Given the description of an element on the screen output the (x, y) to click on. 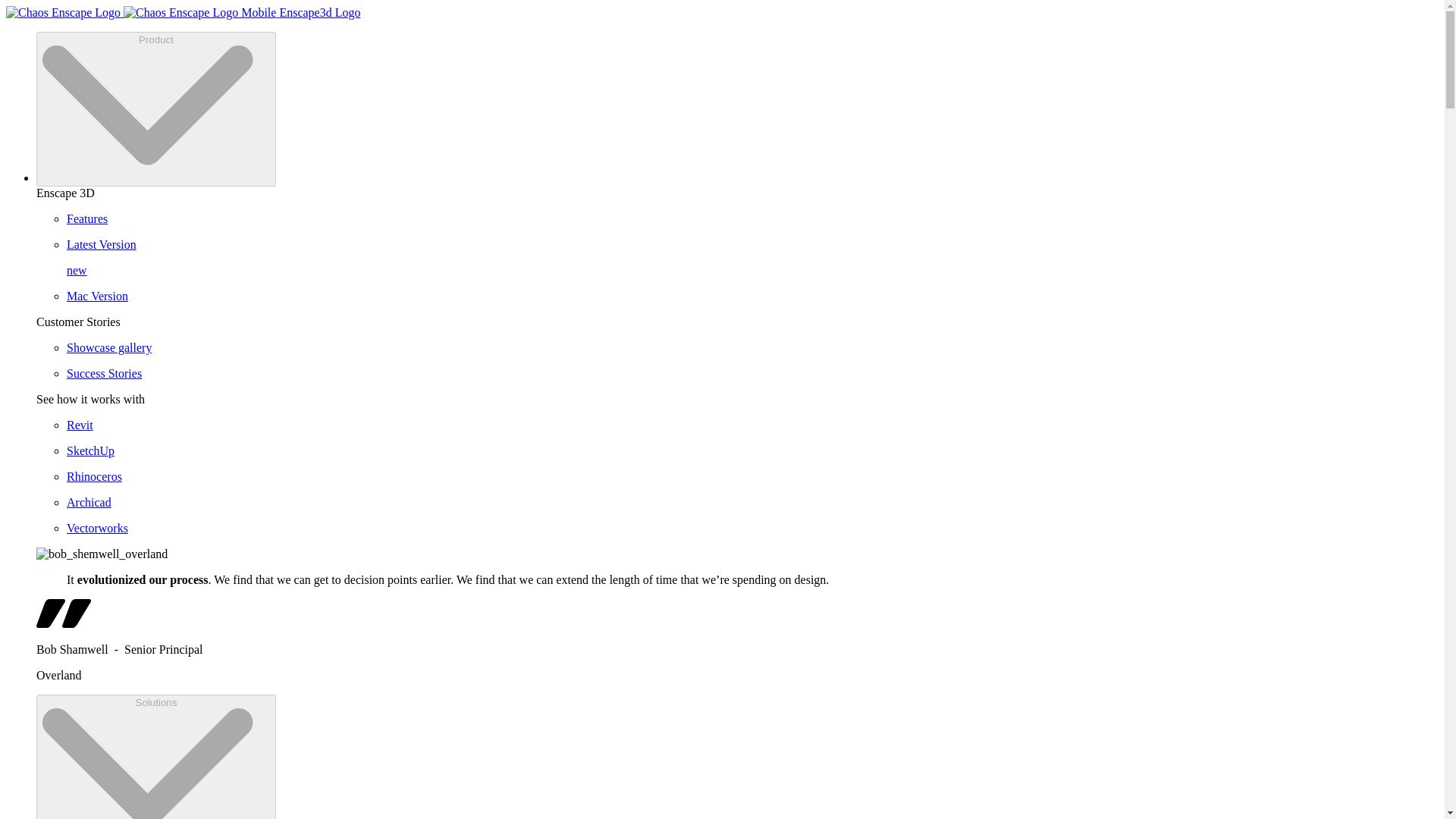
Success Stories (462, 373)
Product (156, 108)
Rhinoceros (462, 477)
Solutions (156, 756)
Features (462, 219)
Showcase gallery (462, 347)
Vectorworks (462, 528)
Revit (462, 425)
SketchUp (462, 450)
Archicad (462, 257)
Mac Version (462, 502)
Enscape3d Logo (462, 296)
